Given the description of an element on the screen output the (x, y) to click on. 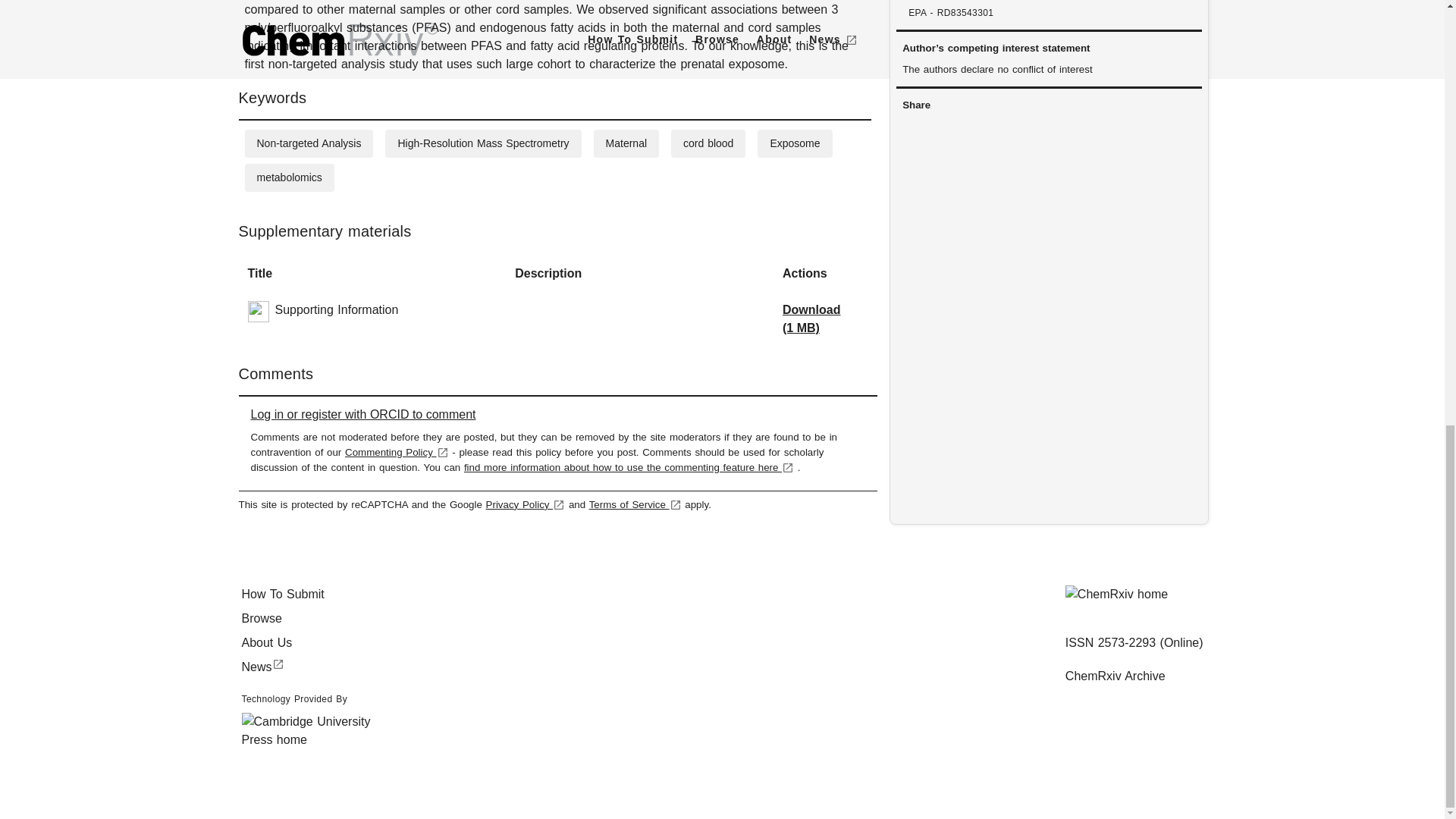
High-Resolution Mass Spectrometry (483, 143)
Maternal (625, 143)
Exposome (794, 143)
Non-targeted Analysis (308, 143)
cord blood (707, 143)
metabolomics (288, 177)
